Given the description of an element on the screen output the (x, y) to click on. 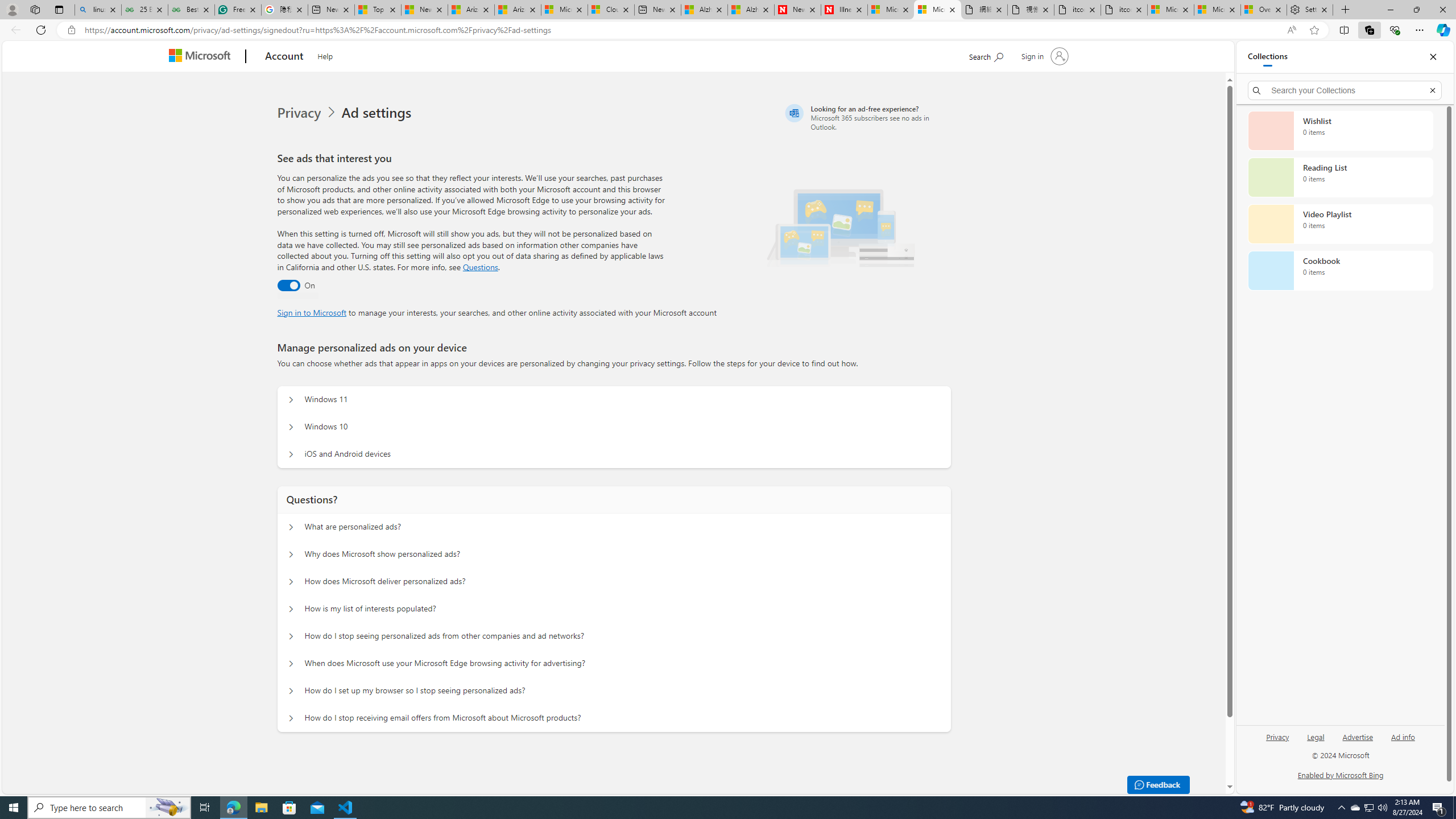
linux basic - Search (97, 9)
Help (325, 54)
Video Playlist collection, 0 items (1339, 223)
Search your Collections (1345, 90)
Microsoft Services Agreement (563, 9)
Ad settings (379, 112)
Legal (1315, 736)
Best SSL Certificates Provider in India - GeeksforGeeks (191, 9)
Search Microsoft.com (986, 54)
Microsoft (202, 56)
